Given the description of an element on the screen output the (x, y) to click on. 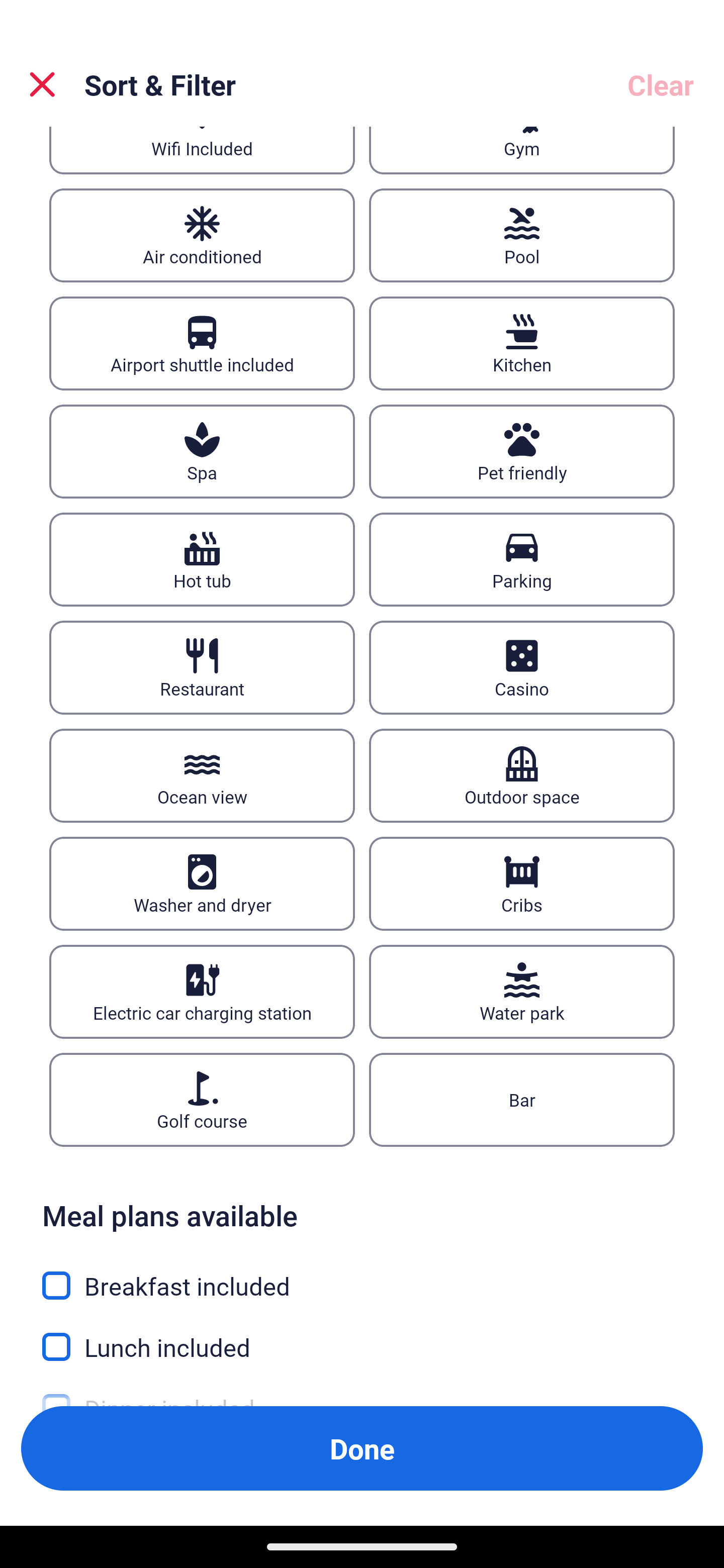
Close Sort and Filter (42, 84)
Clear (660, 84)
Air conditioned (201, 235)
Pool (521, 235)
Airport shuttle included (201, 343)
Kitchen (521, 343)
Spa (201, 451)
Pet friendly (521, 451)
Hot tub (201, 559)
Parking (521, 559)
Restaurant (201, 667)
Casino (521, 667)
Ocean view (201, 776)
Outdoor space (521, 776)
Washer and dryer (201, 884)
Cribs (521, 884)
Electric car charging station (201, 991)
Water park (521, 991)
Golf course (201, 1099)
Bar (521, 1099)
Breakfast included, Breakfast included (361, 1273)
Lunch included, Lunch included (361, 1334)
Apply and close Sort and Filter Done (361, 1448)
